Given the description of an element on the screen output the (x, y) to click on. 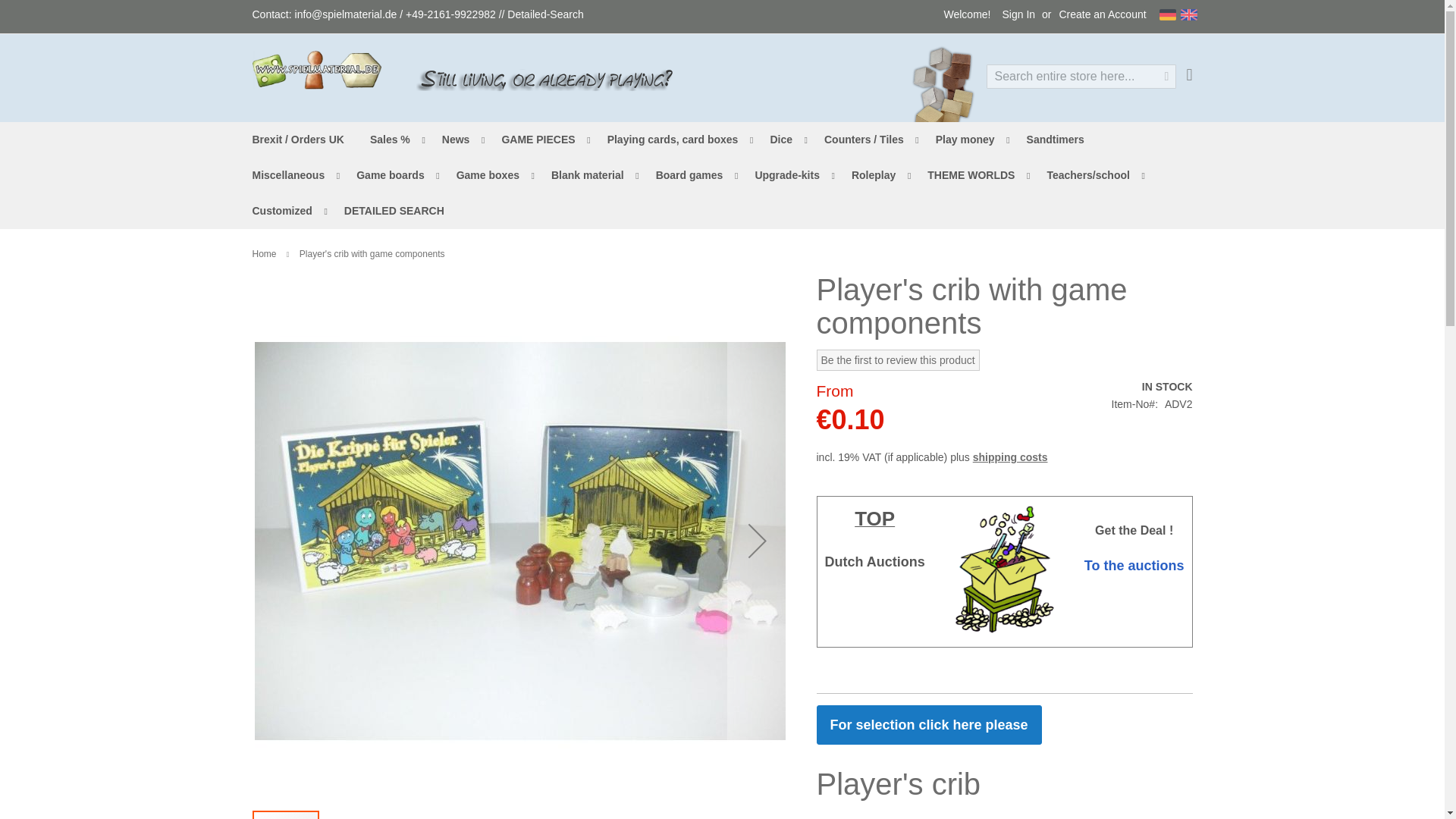
Availability: (1152, 387)
spielmaterial.de (315, 69)
GAME PIECES (540, 140)
News (458, 140)
Detailed-Search (544, 14)
Sign In (1018, 14)
Create an Account (1101, 14)
Go to Home Page (263, 253)
